Given the description of an element on the screen output the (x, y) to click on. 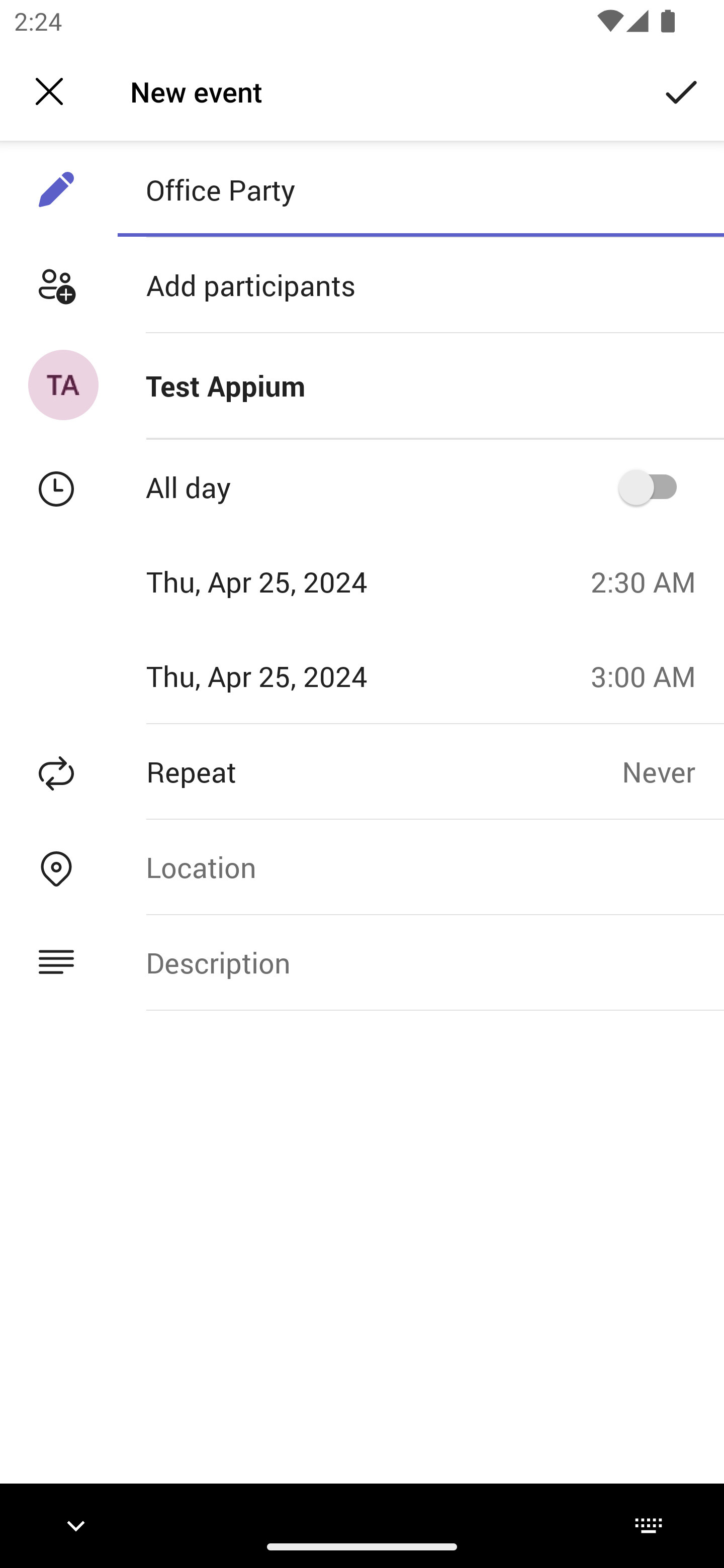
Back (49, 91)
Send invite (681, 90)
Office Party (420, 189)
Add participants Add participants option (362, 285)
All day (654, 486)
Thu, Apr 25, 2024 Starts Thursday Apr 25, 2024 (288, 581)
2:30 AM Start time 2:30 AM (650, 581)
Thu, Apr 25, 2024 Ends Thursday Apr 25, 2024 (288, 675)
3:00 AM End time 3:00 AM (650, 675)
Repeat (310, 771)
Never Repeat Never (672, 771)
Location (420, 867)
Description (420, 962)
